Given the description of an element on the screen output the (x, y) to click on. 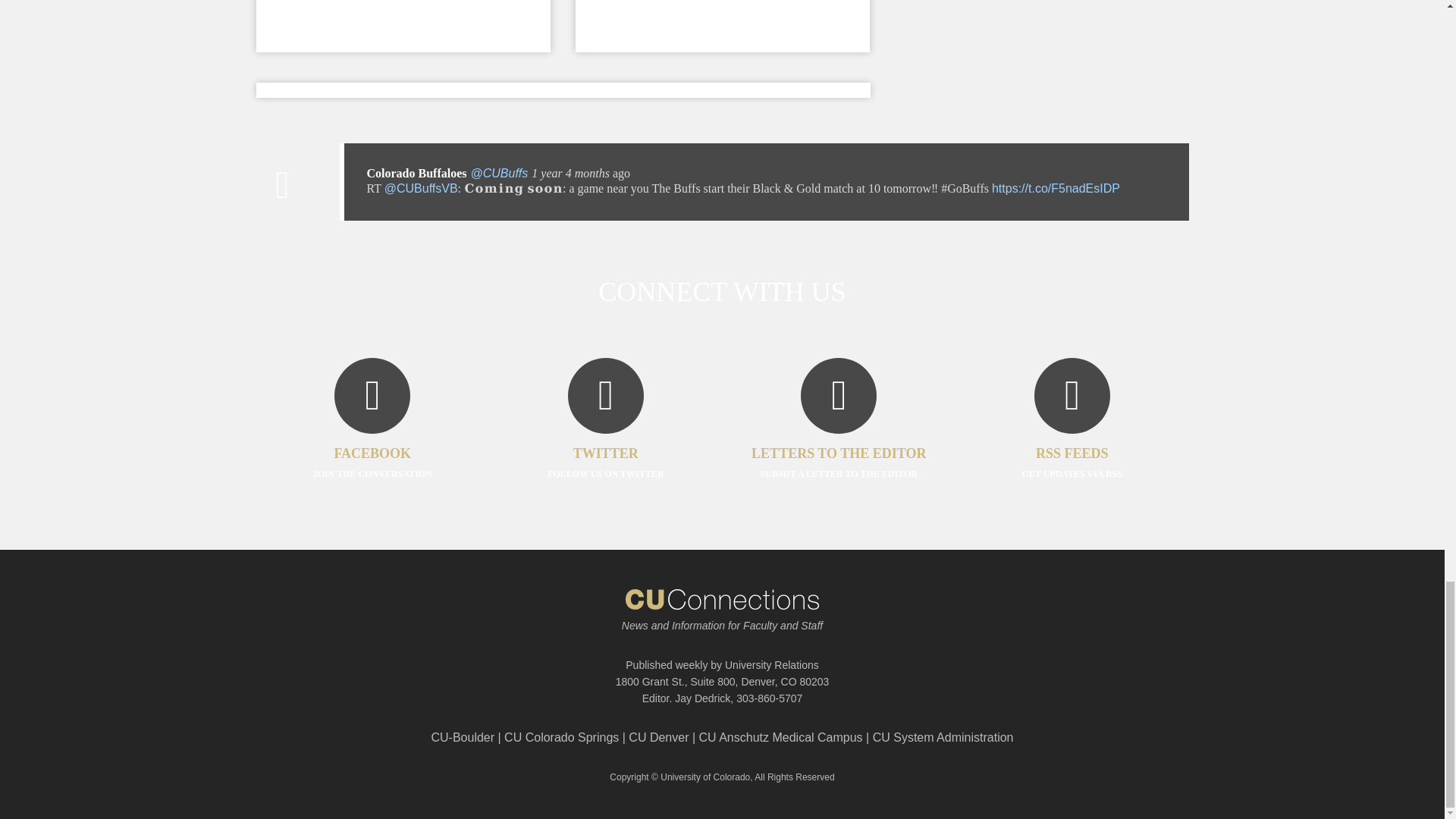
Join the Conversation (372, 440)
Follow us on Twitter (605, 440)
Get Updates Via RSS (1072, 440)
Submit a Letter to the Editor (838, 440)
